Given the description of an element on the screen output the (x, y) to click on. 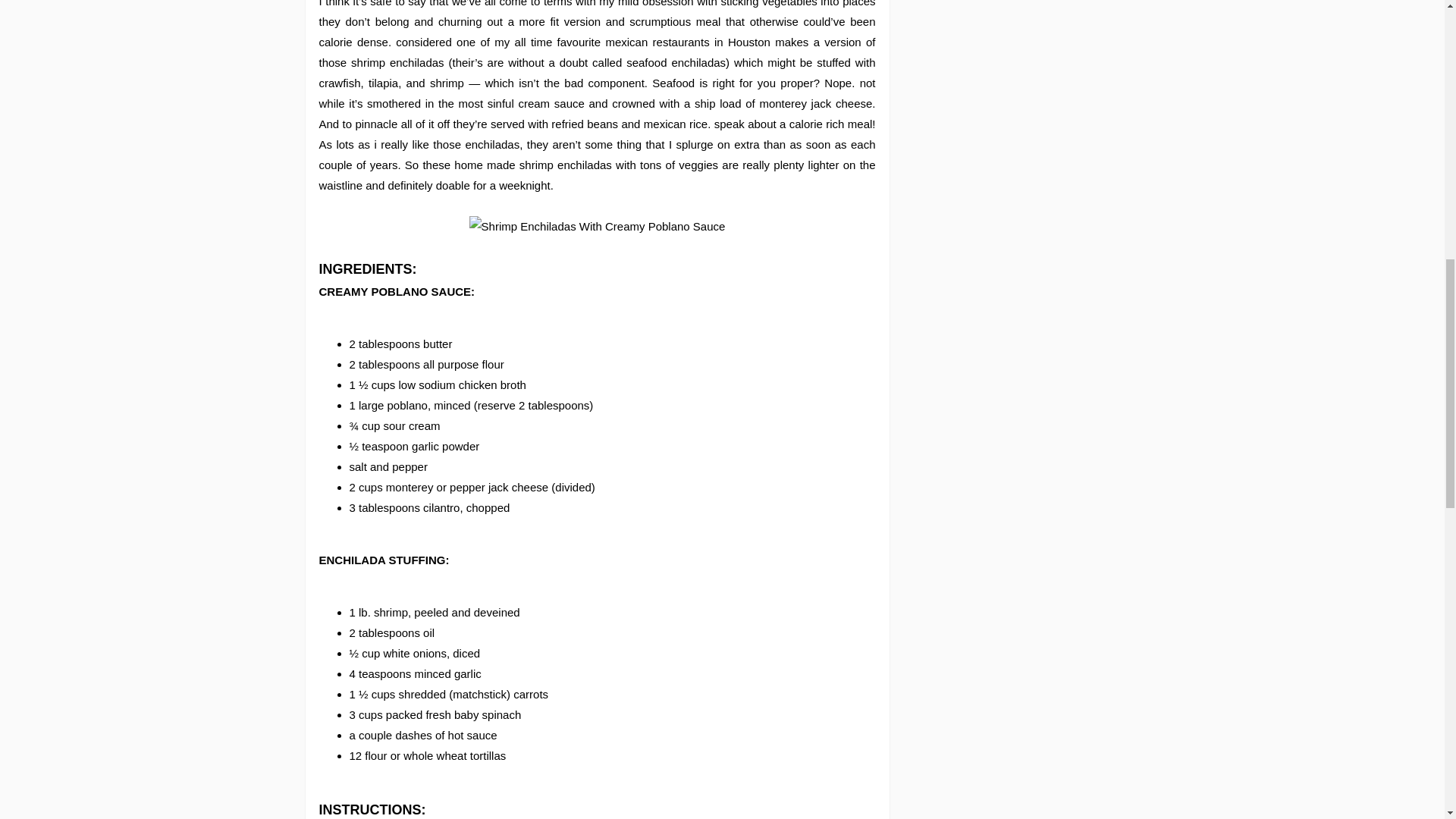
Shrimp Enchiladas With Creamy Poblano Sauce (596, 226)
